Given the description of an element on the screen output the (x, y) to click on. 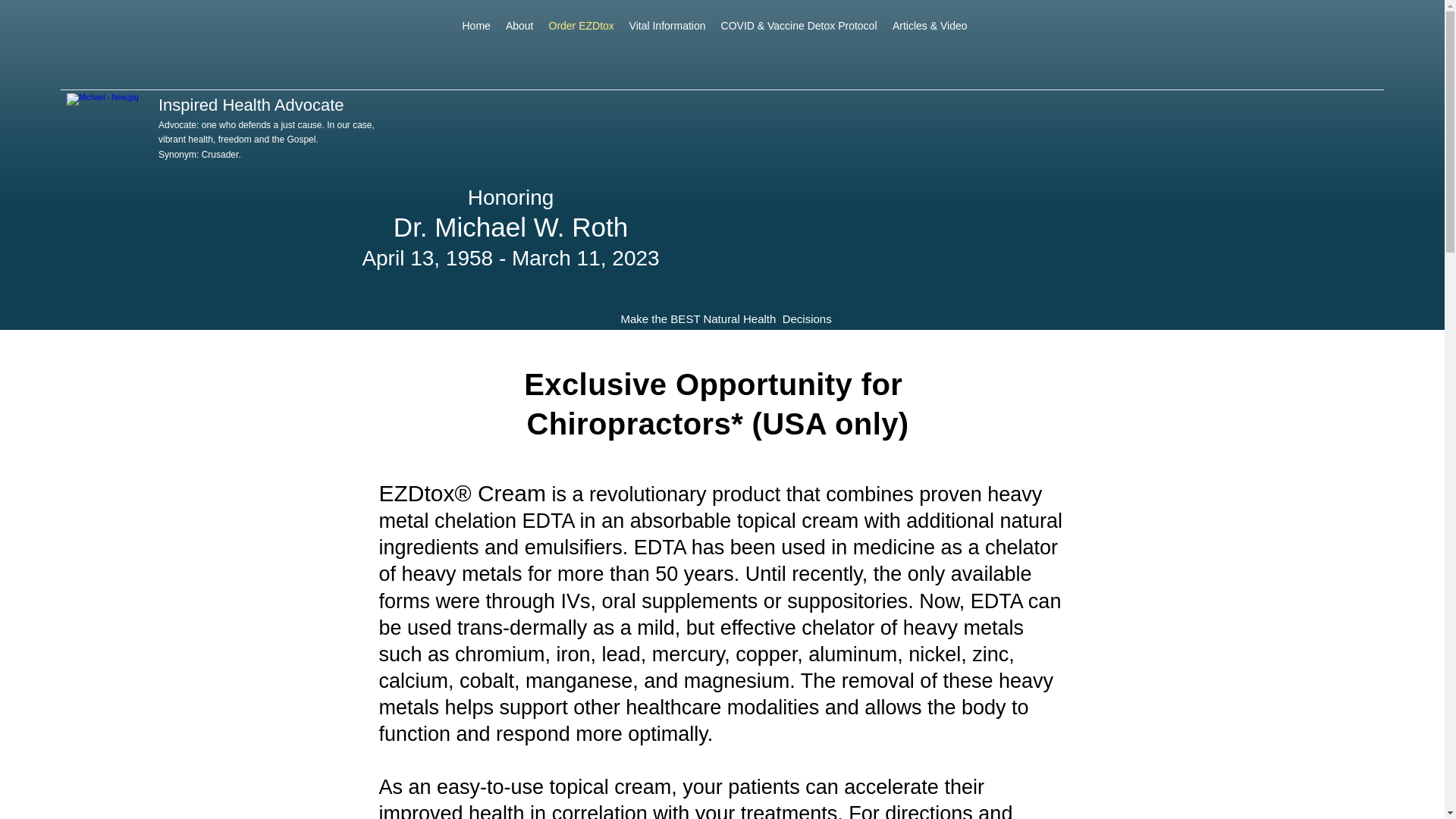
Order EZDtox (581, 25)
About (518, 25)
Home (475, 25)
Vital Information (667, 25)
